Given the description of an element on the screen output the (x, y) to click on. 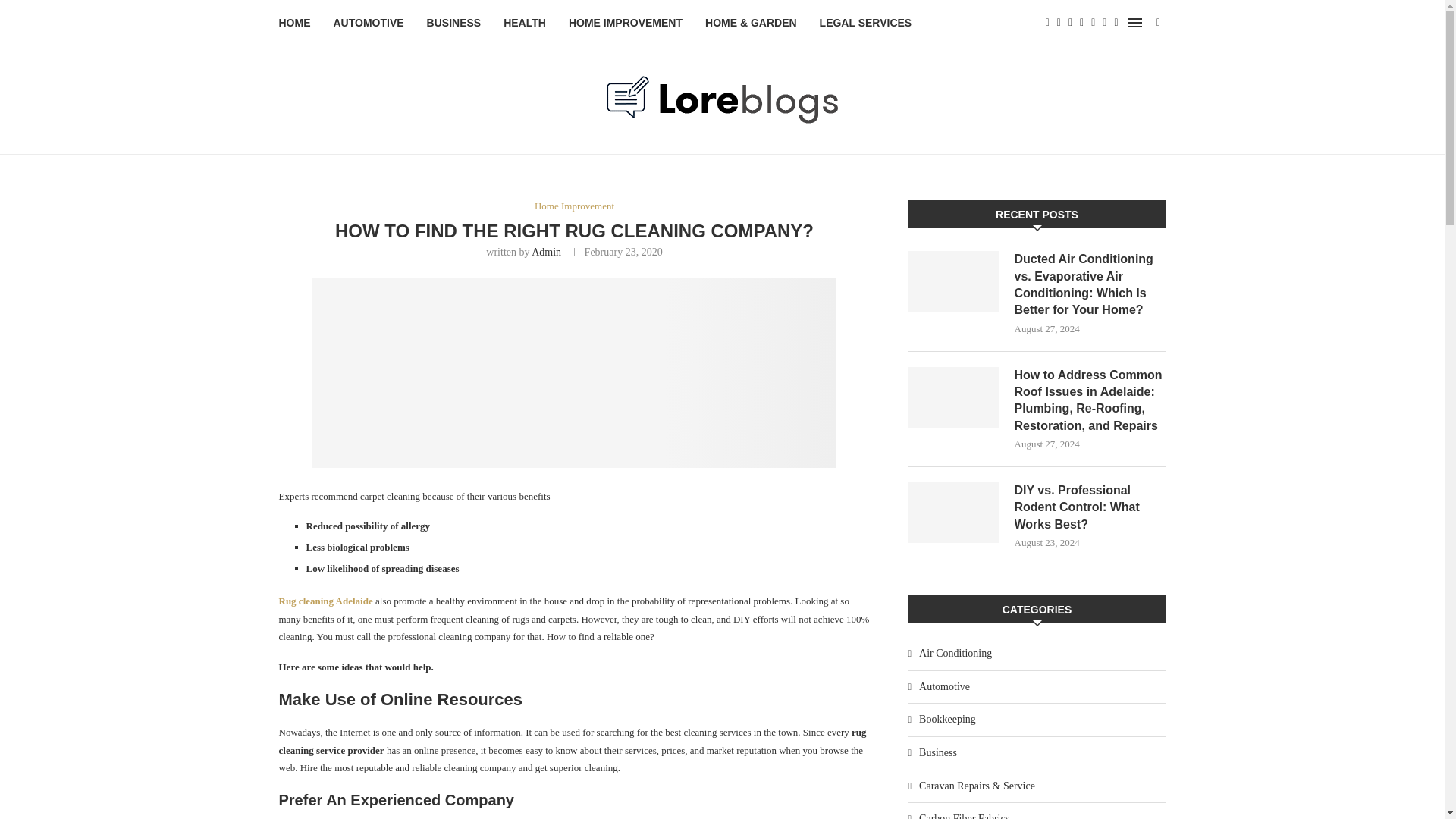
LEGAL SERVICES (865, 22)
HEALTH (524, 22)
AUTOMOTIVE (368, 22)
Rug cleaning Adelaide (325, 600)
Admin (545, 251)
Home Improvement (574, 205)
BUSINESS (453, 22)
How to Find the Right Rug Cleaning Company (574, 372)
